Given the description of an element on the screen output the (x, y) to click on. 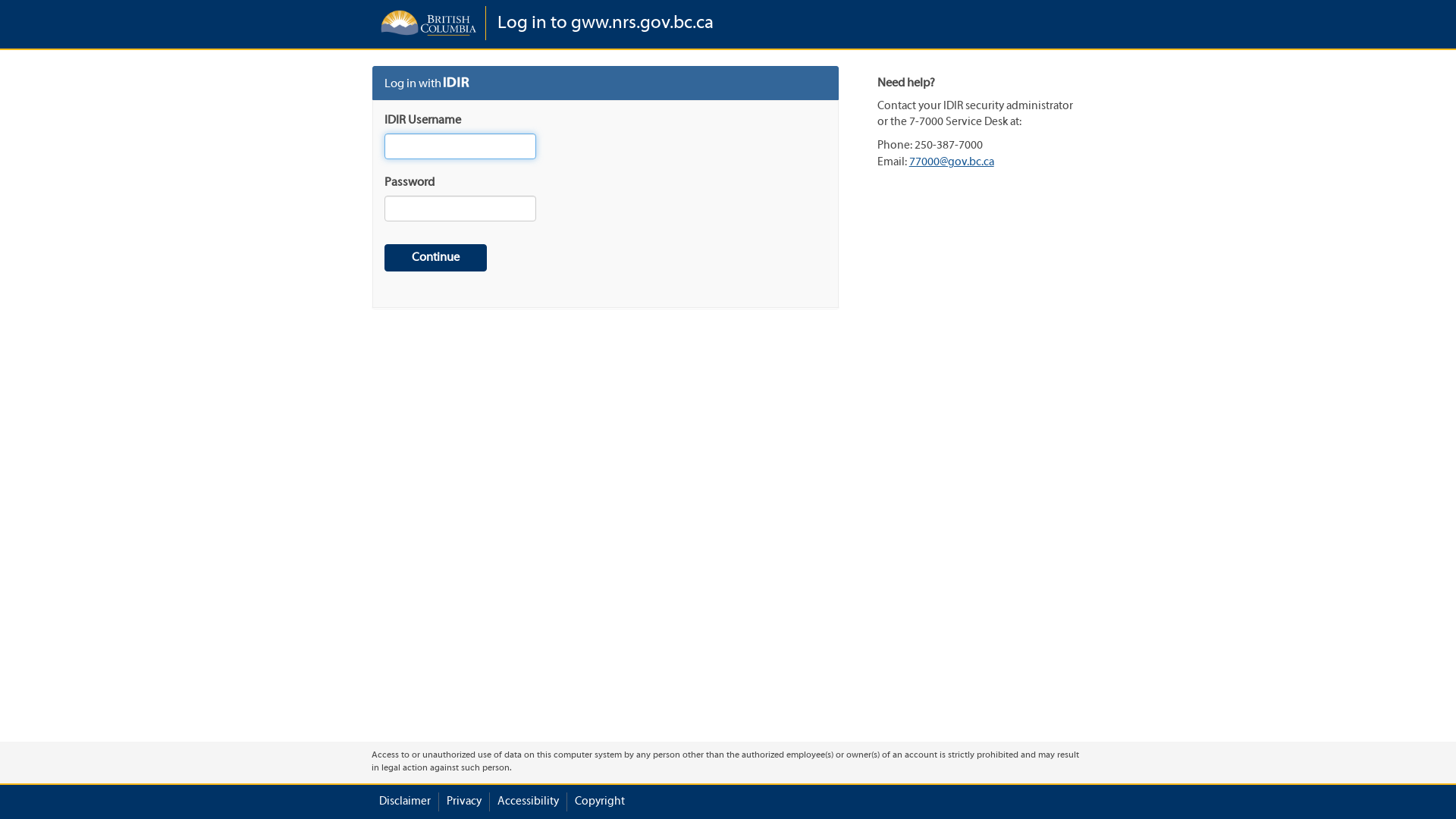
77000@gov.bc.ca Element type: text (951, 162)
Continue Element type: text (435, 258)
Disclaimer Element type: text (404, 801)
Copyright Element type: text (599, 801)
Privacy Element type: text (463, 801)
Accessibility Element type: text (527, 801)
